Given the description of an element on the screen output the (x, y) to click on. 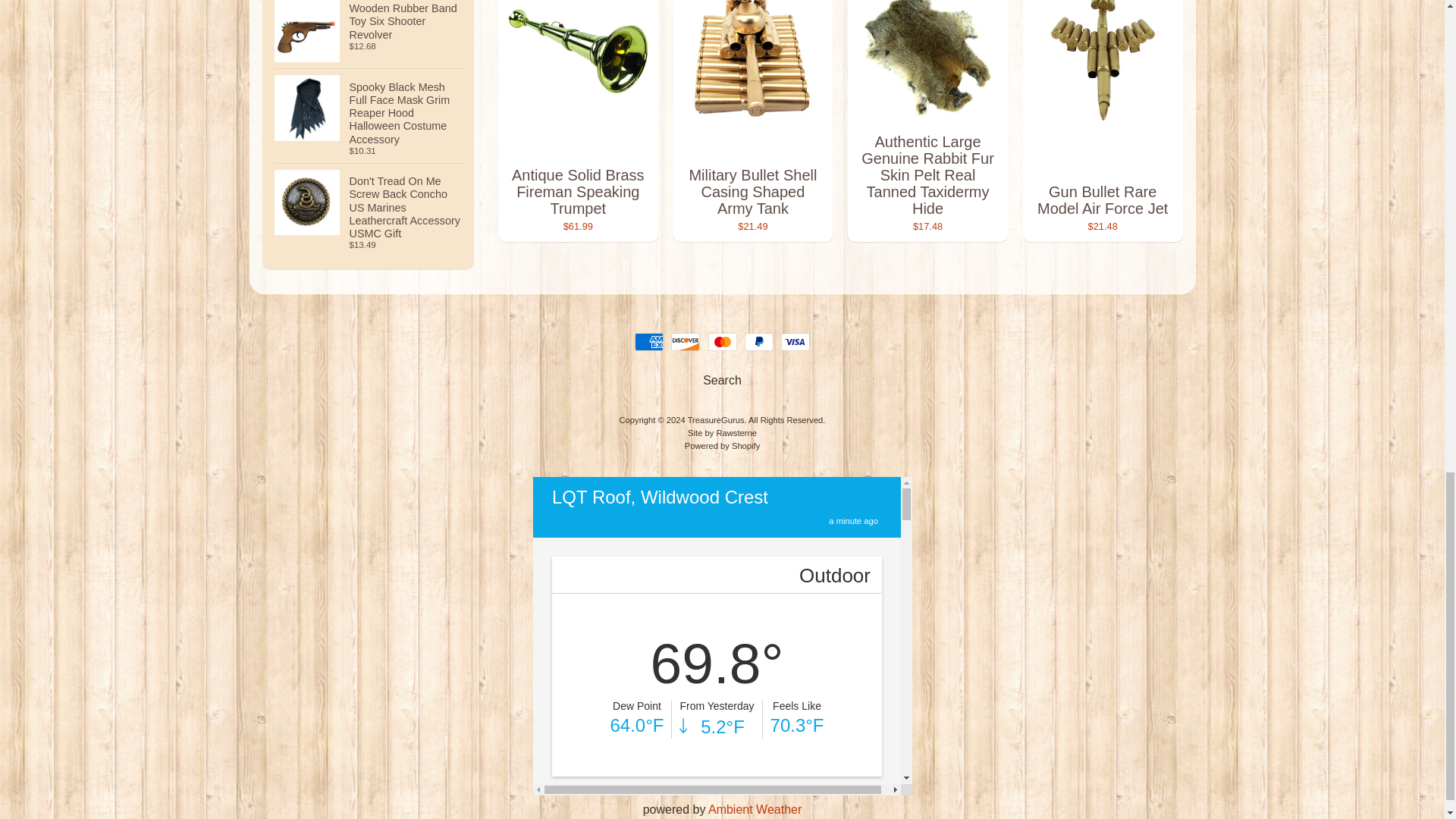
Wooden Rubber Band Toy Six Shooter Revolver (369, 34)
